Given the description of an element on the screen output the (x, y) to click on. 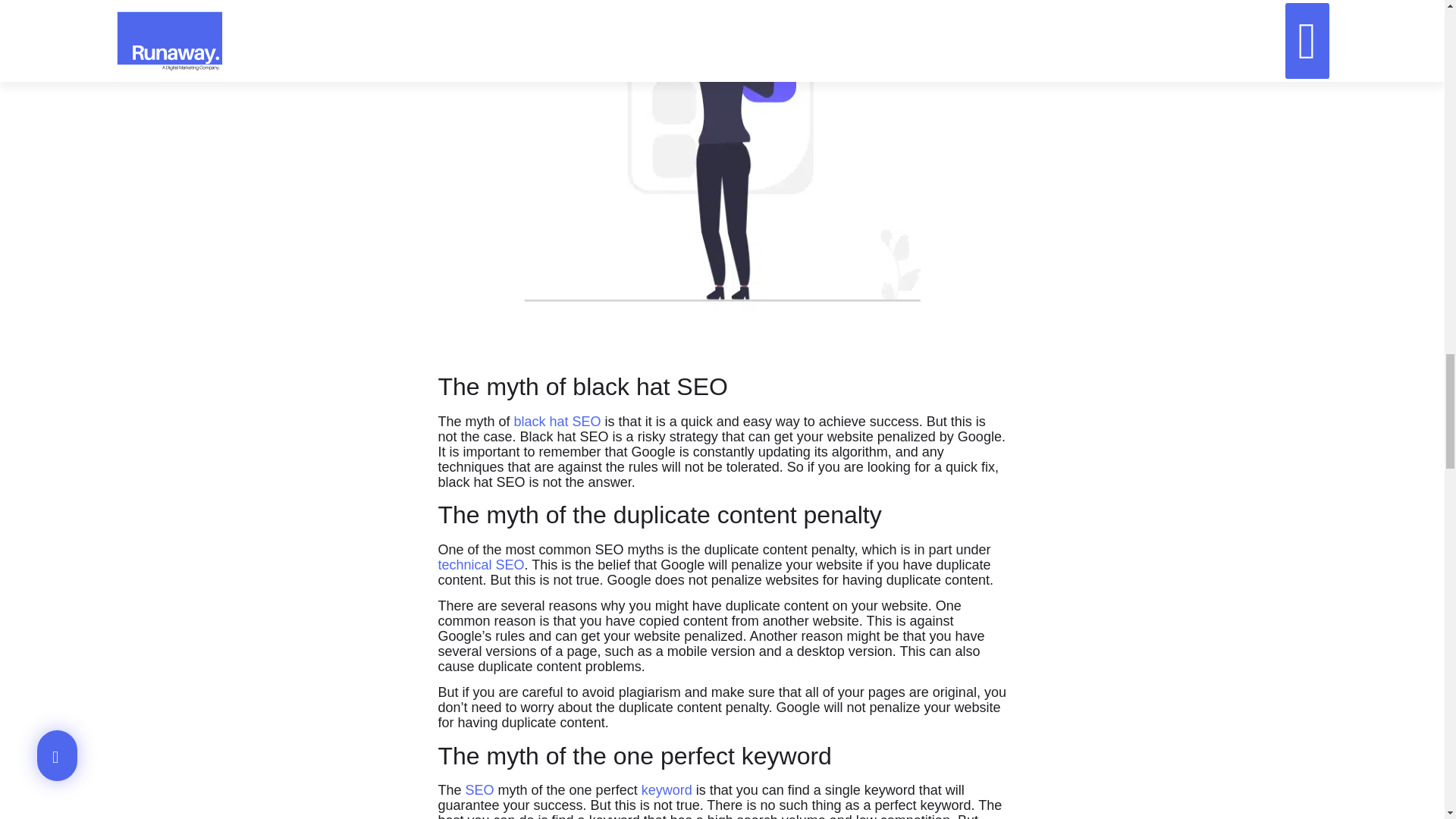
black hat SEO (557, 421)
SEO (480, 789)
keyword (665, 789)
technical SEO (481, 564)
